Given the description of an element on the screen output the (x, y) to click on. 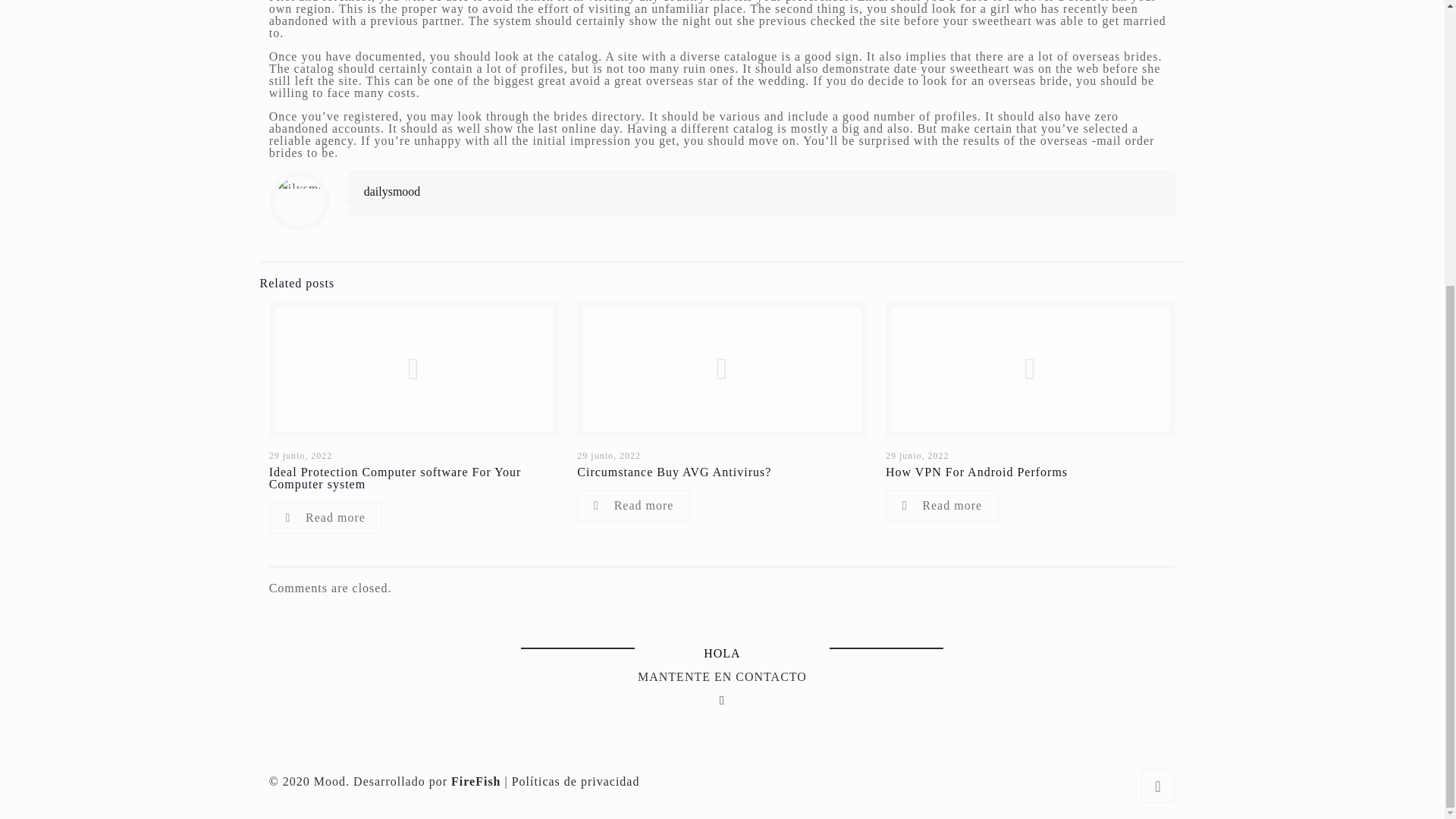
FireFish (475, 780)
Read more (325, 517)
dailysmood (392, 191)
Ideal Protection Computer software For Your Computer system (395, 478)
Circumstance Buy AVG Antivirus? (673, 472)
Read more (941, 505)
How VPN For Android Performs (976, 472)
Read more (633, 505)
